Given the description of an element on the screen output the (x, y) to click on. 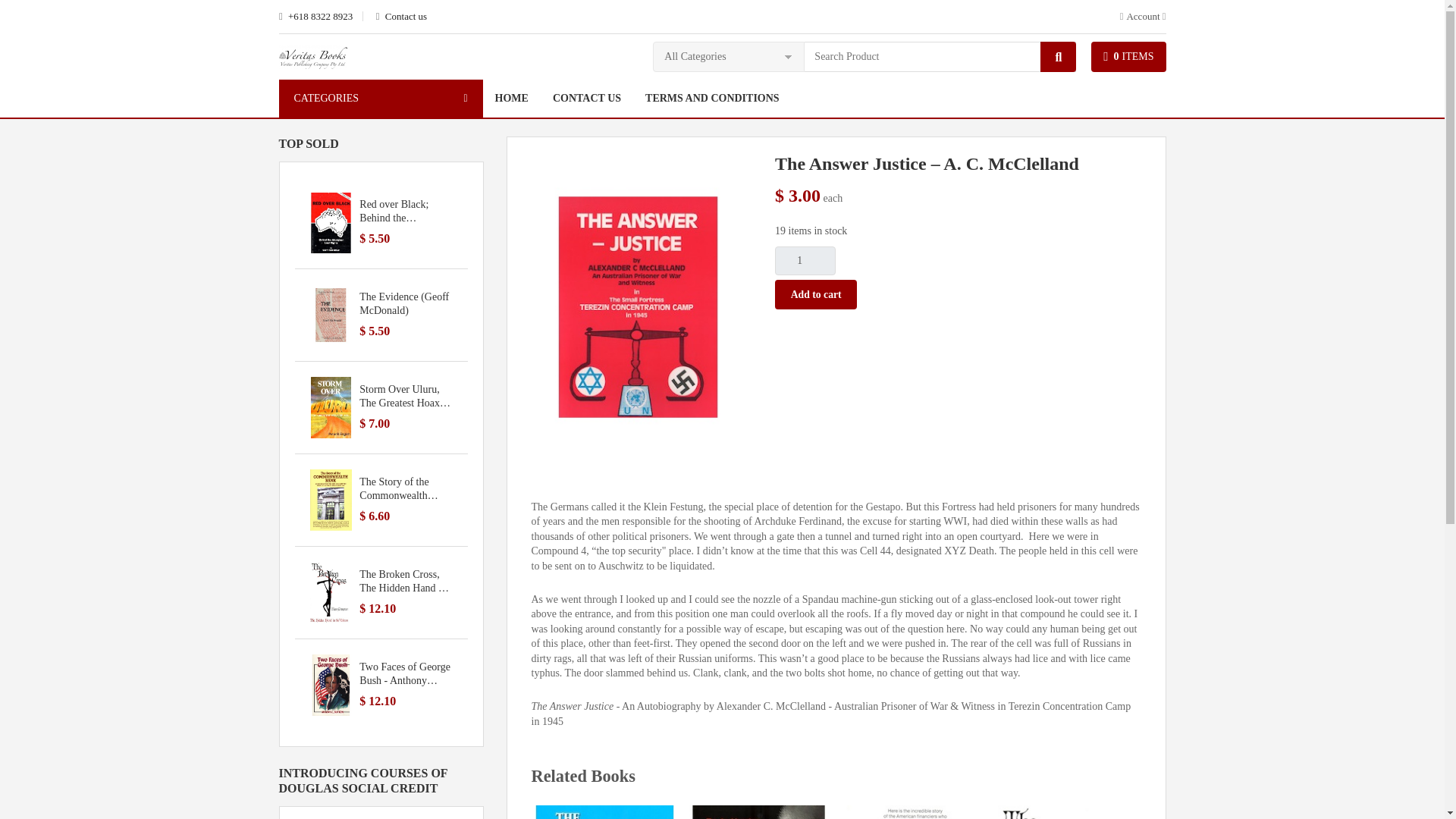
Contact us (400, 16)
The Broken Cross, The Hidden Hand In The Vatican (1067, 812)
CONTACT US (586, 98)
HOME (511, 98)
CATEGORIES (381, 98)
1 (804, 260)
TERMS AND CONDITIONS (712, 98)
Add to cart (815, 294)
